Given the description of an element on the screen output the (x, y) to click on. 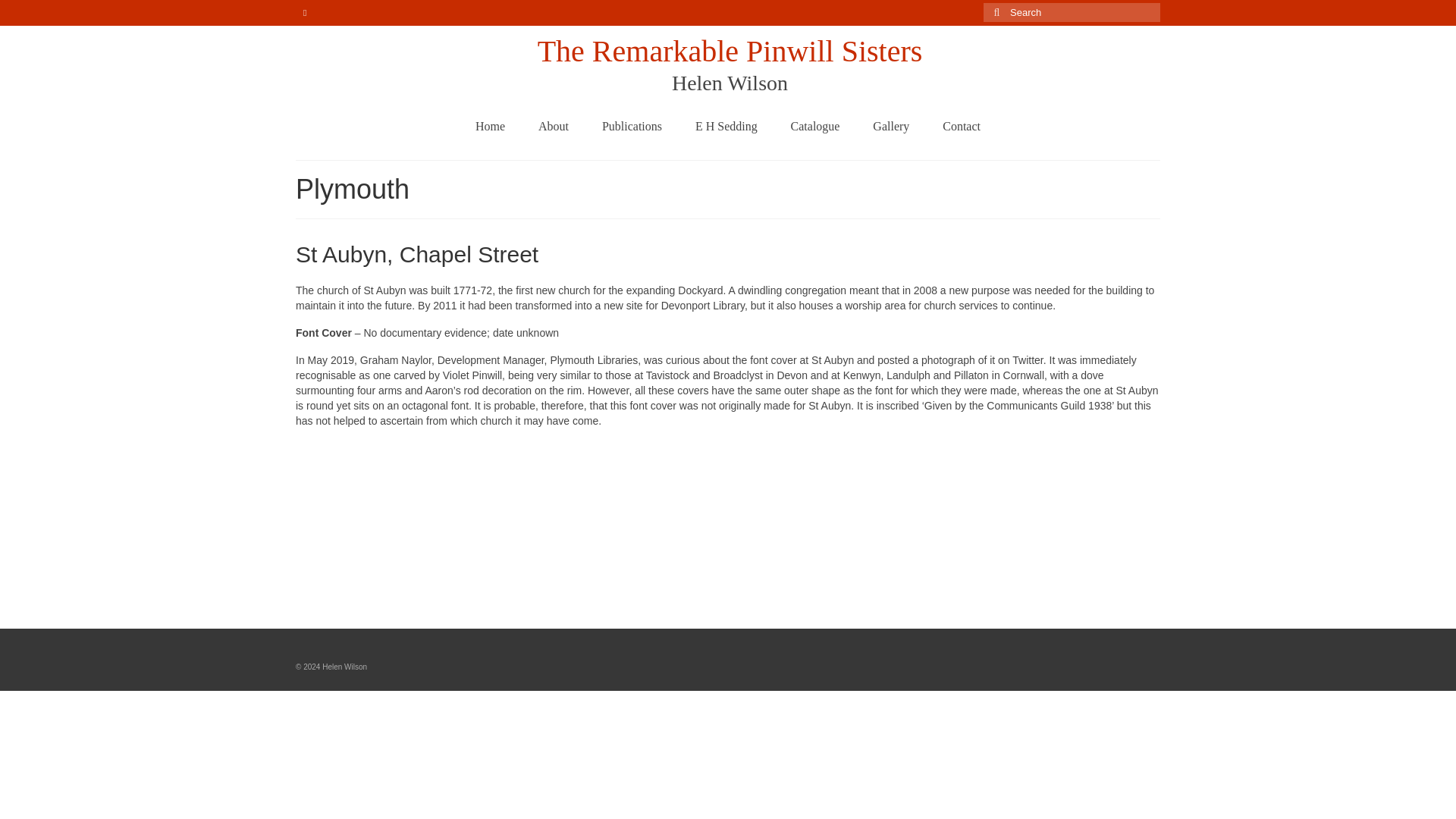
E H Sedding (726, 126)
The Remarkable Pinwill Sisters (730, 50)
Home (489, 126)
About (552, 126)
Gallery (890, 126)
Catalogue (816, 126)
Contact (961, 126)
Publications (631, 126)
